Given the description of an element on the screen output the (x, y) to click on. 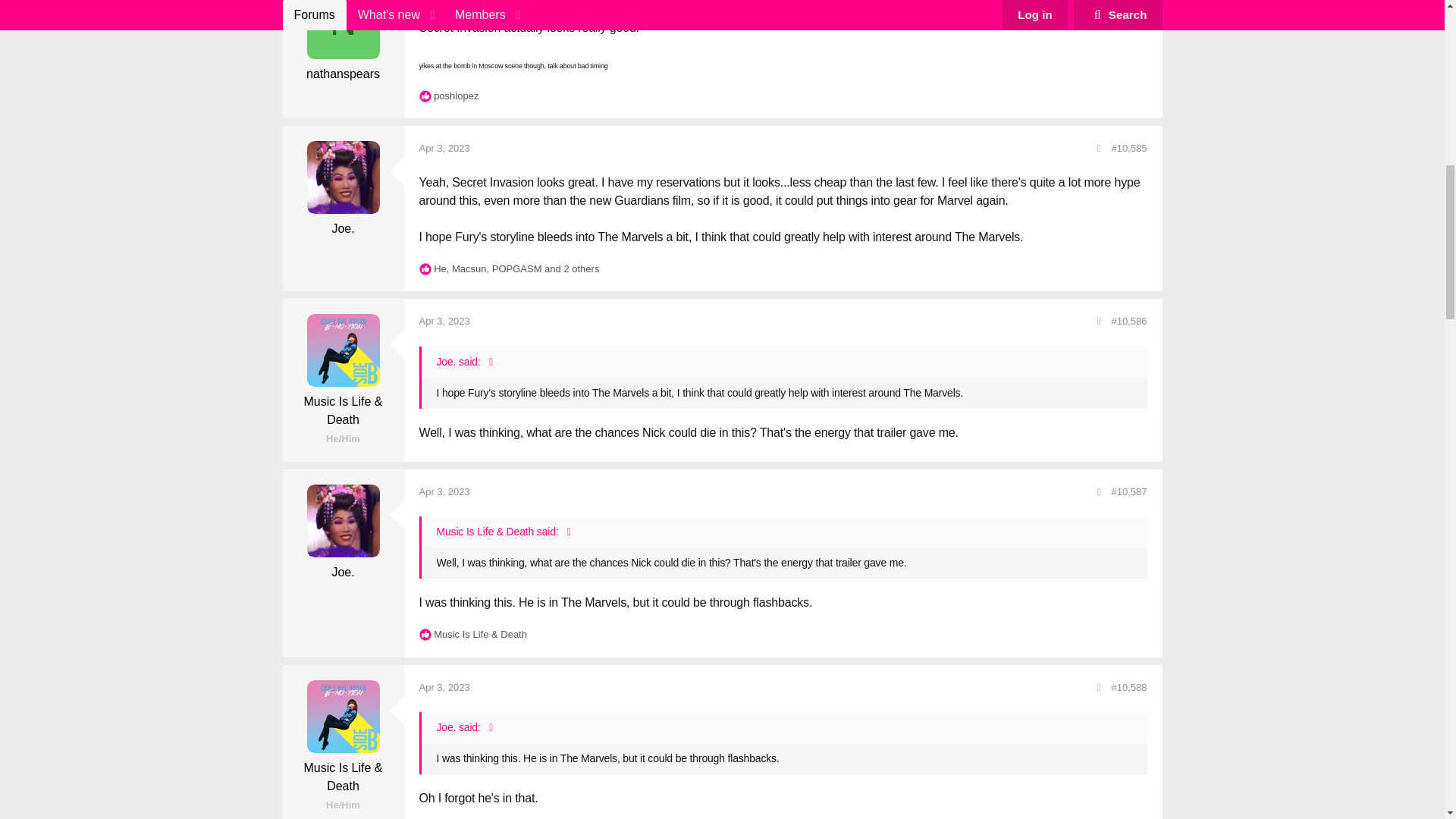
Like (424, 268)
Like (424, 96)
Apr 3, 2023 at 3:57 PM (443, 320)
Apr 3, 2023 at 12:15 PM (443, 147)
